Given the description of an element on the screen output the (x, y) to click on. 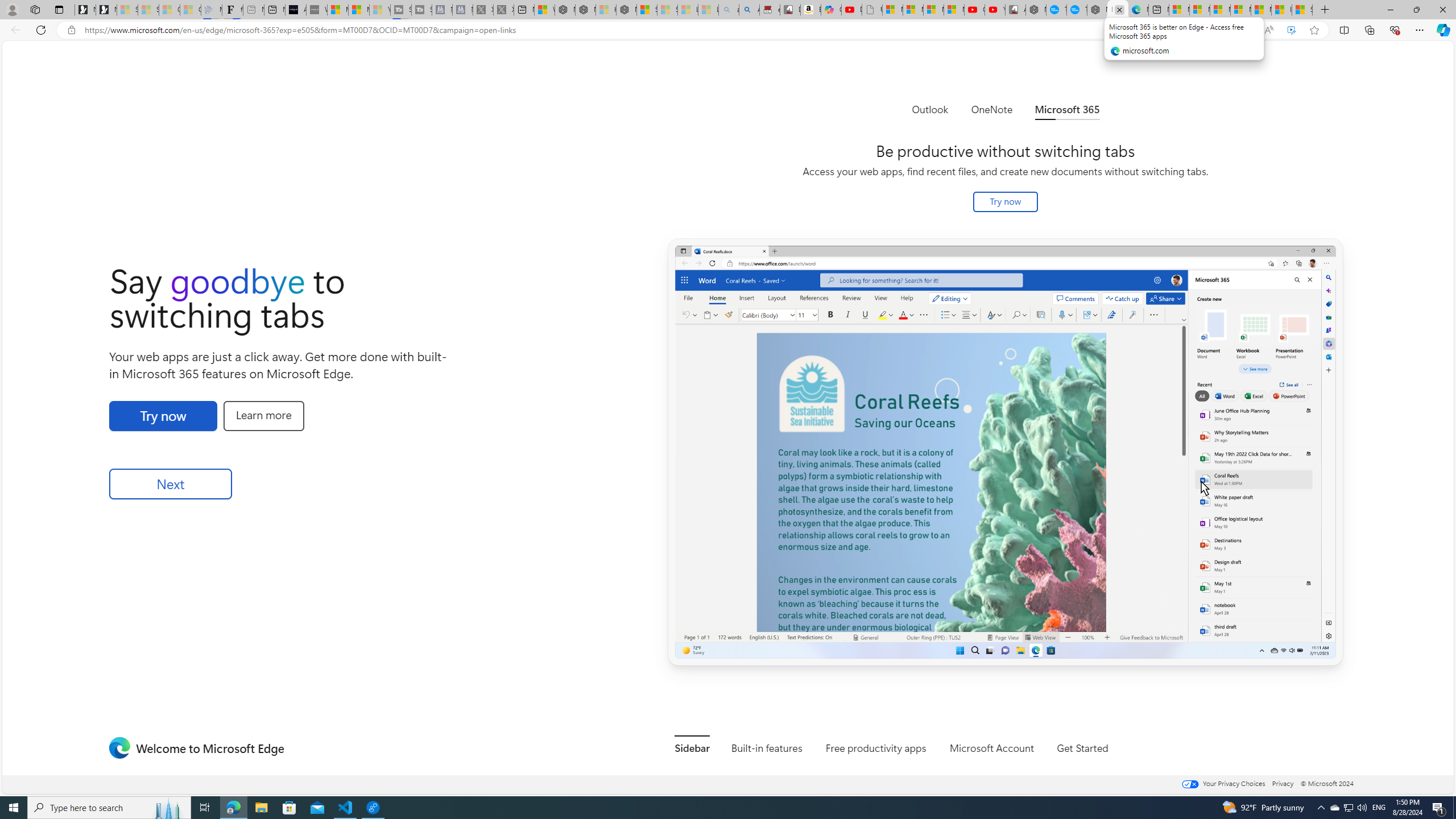
Read aloud this page (Ctrl+Shift+U) (1268, 29)
Nordace - Nordace has arrived Hong Kong (1096, 9)
Microsoft account | Microsoft Account Privacy Settings (1199, 9)
Add this page to favorites (Ctrl+D) (1314, 29)
Nordace - Nordace Siena Is Not An Ordinary Backpack (626, 9)
Workspaces (34, 9)
Microsoft account | Privacy (1240, 9)
Close tab (1119, 9)
Settings and more (Alt+F) (1419, 29)
amazon - Search - Sleeping (728, 9)
Microsoft Start Sports (337, 9)
New tab - Sleeping (253, 9)
